Given the description of an element on the screen output the (x, y) to click on. 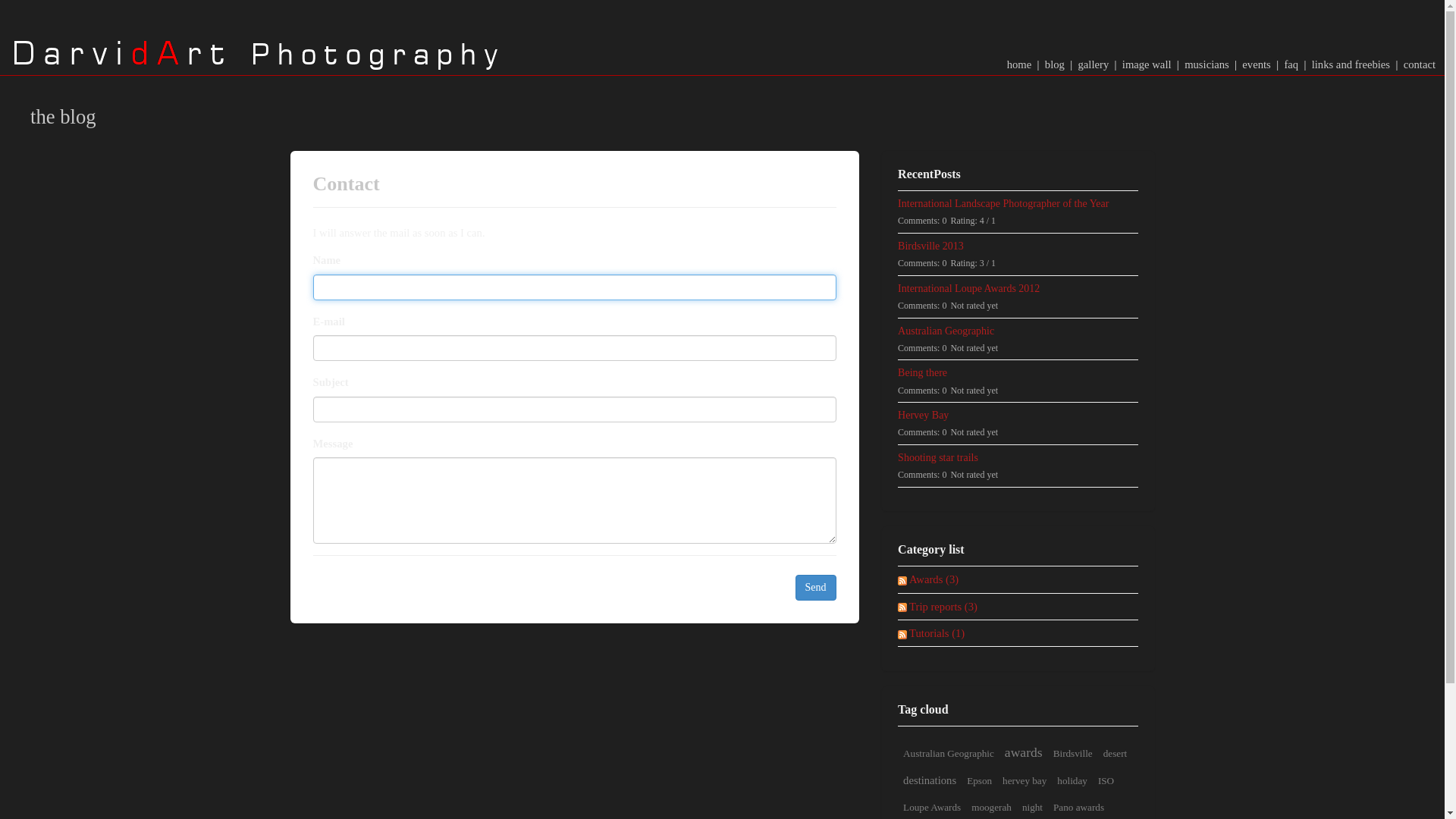
moogerah Element type: text (991, 807)
  contact   Element type: text (1418, 64)
  blog   Element type: text (1054, 64)
  events   Element type: text (1256, 64)
Pano awards Element type: text (1078, 807)
Epson Element type: text (979, 780)
night Element type: text (1031, 807)
Birdsville Element type: text (1073, 753)
desert Element type: text (1115, 753)
 home   Element type: text (1020, 64)
Australian Geographic Element type: text (948, 753)
Trip reports (3) Element type: text (944, 606)
  links and freebies   Element type: text (1350, 64)
Awards (3) Element type: text (934, 579)
Send Element type: text (814, 587)
International Landscape Photographer of the Year Element type: text (1016, 203)
  image wall   Element type: text (1146, 64)
Being there Element type: text (1016, 372)
destinations Element type: text (929, 779)
International Loupe Awards 2012 Element type: text (1016, 288)
Tutorials (1) Element type: text (937, 633)
Hervey Bay Element type: text (1016, 414)
ISO Element type: text (1105, 780)
Australian Geographic Element type: text (1016, 330)
  musicians   Element type: text (1206, 64)
  gallery   Element type: text (1092, 64)
  faq   Element type: text (1290, 64)
holiday Element type: text (1071, 780)
hervey bay Element type: text (1024, 780)
Birdsville 2013 Element type: text (1016, 245)
Loupe Awards Element type: text (931, 807)
Shooting star trails Element type: text (1016, 457)
awards Element type: text (1023, 752)
